Given the description of an element on the screen output the (x, y) to click on. 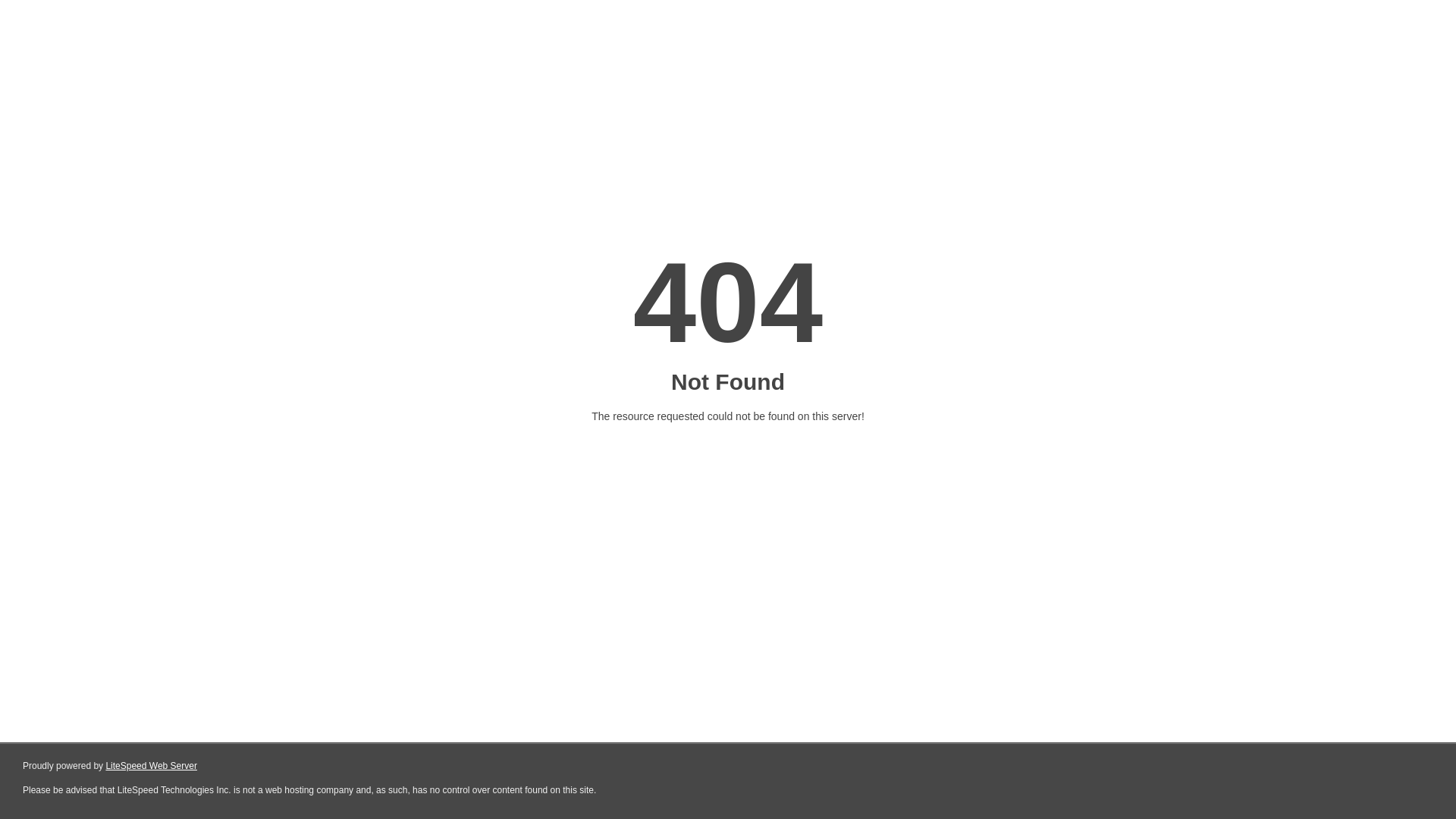
LiteSpeed Web Server Element type: text (151, 765)
